Given the description of an element on the screen output the (x, y) to click on. 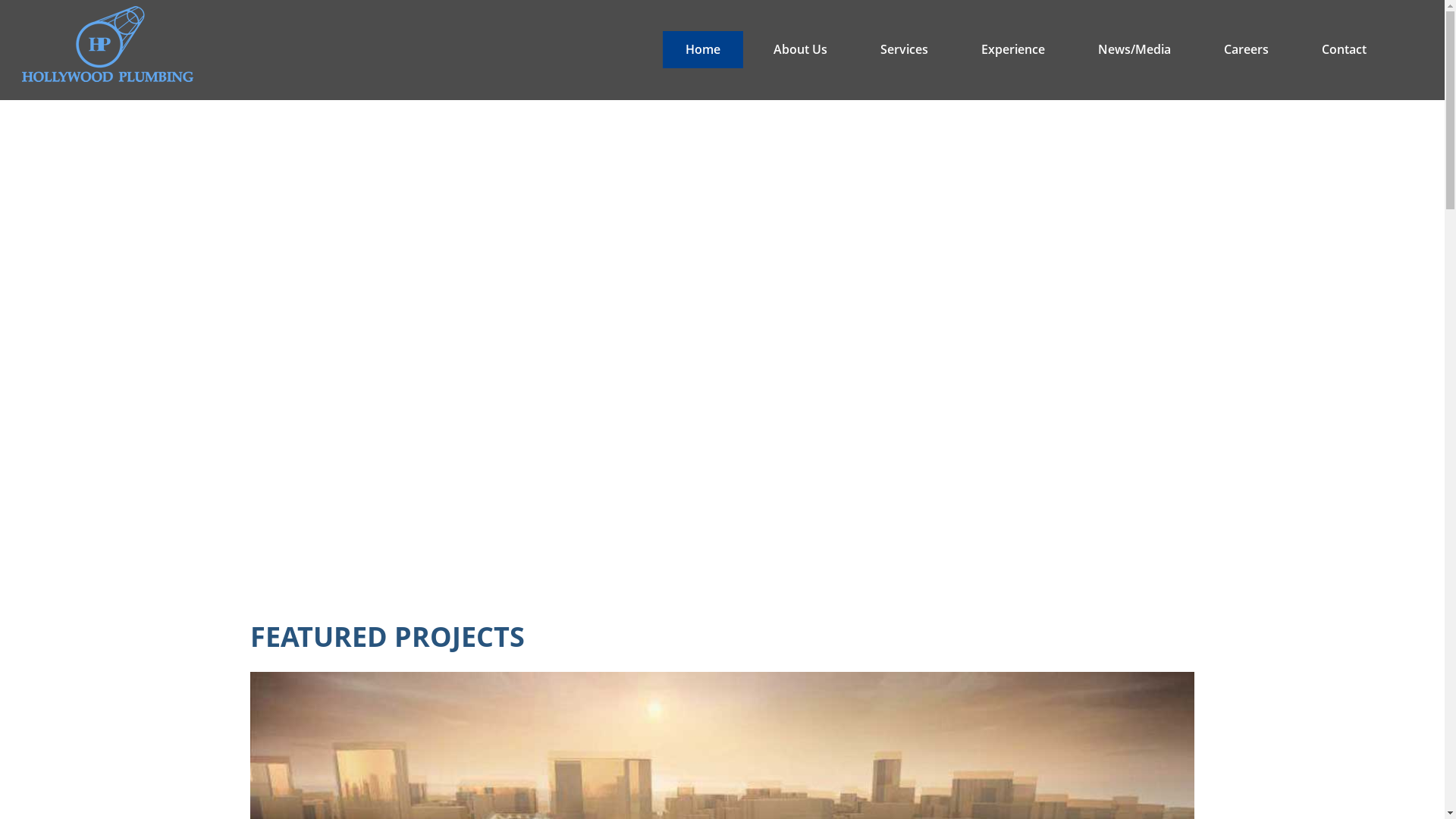
Experience Element type: text (1012, 49)
Services Element type: text (904, 49)
News/Media Element type: text (1134, 49)
About Us Element type: text (800, 49)
Home Element type: text (702, 49)
Contact Element type: text (1343, 49)
Careers Element type: text (1245, 49)
